Given the description of an element on the screen output the (x, y) to click on. 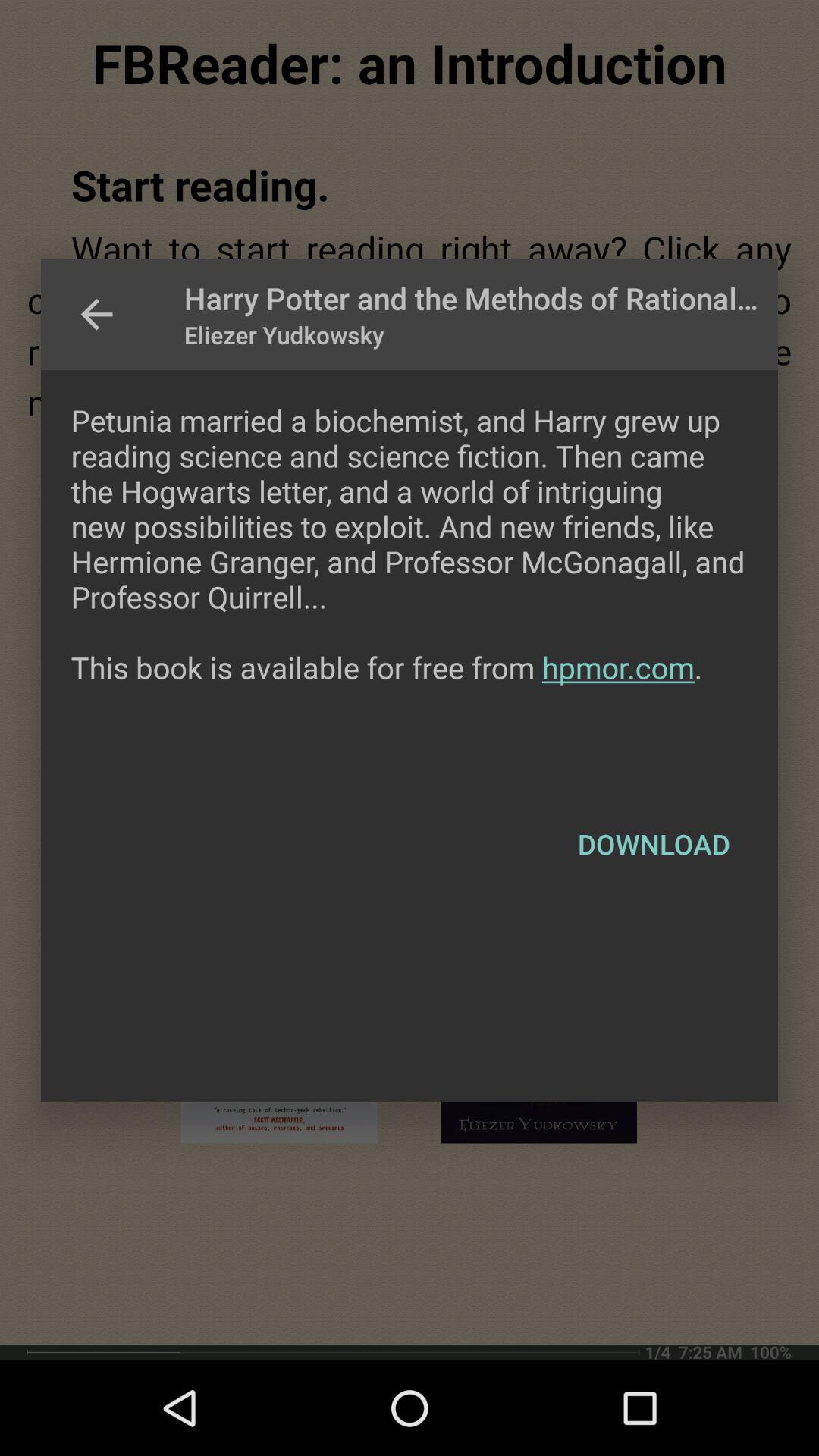
launch icon above the download icon (409, 579)
